Given the description of an element on the screen output the (x, y) to click on. 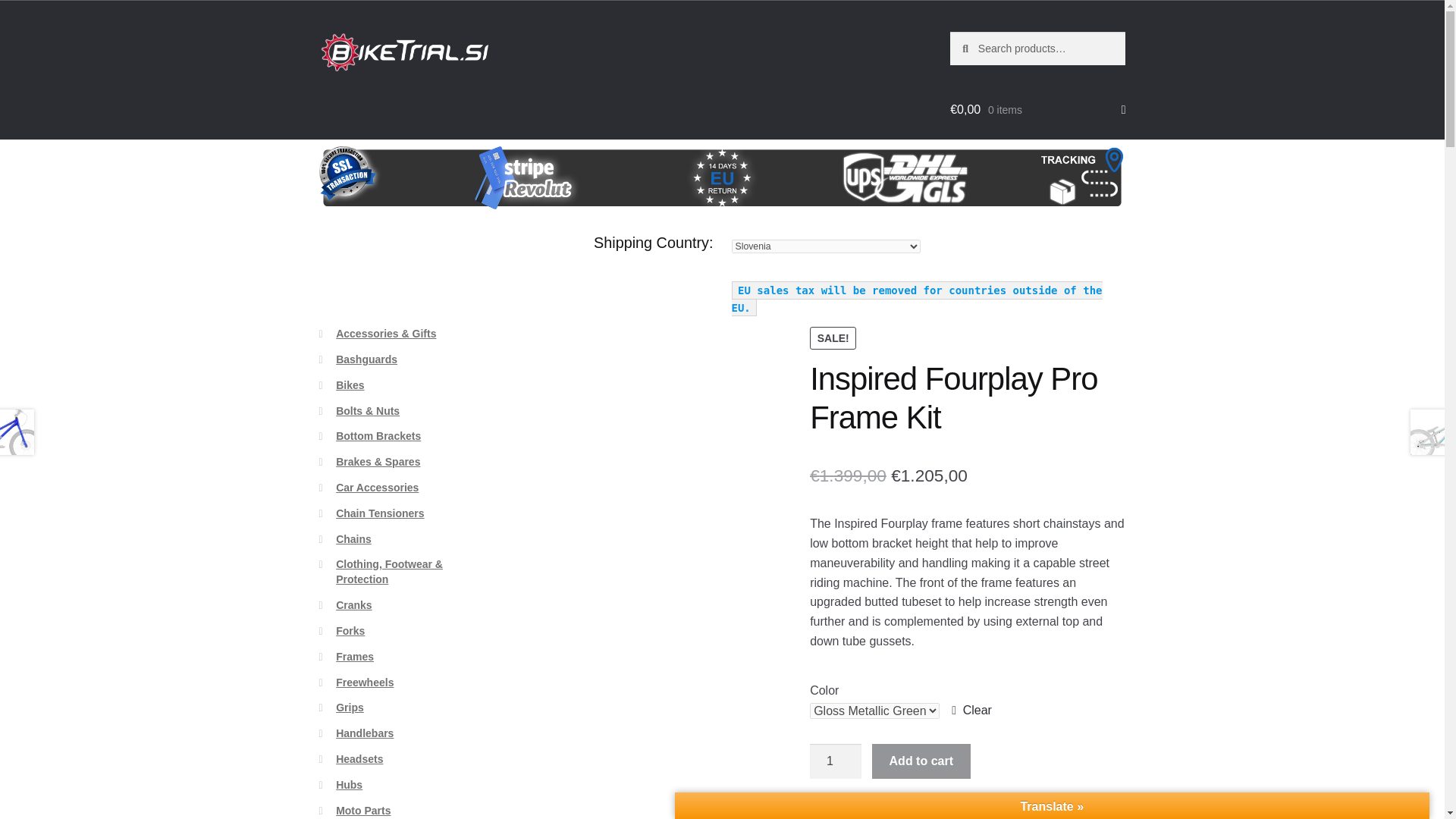
Add to cart (921, 760)
My account (627, 107)
About us (377, 107)
Checkout (457, 107)
Privacy Policy (700, 100)
Delivery (572, 107)
Contact Us (516, 107)
Contact Us (516, 100)
Checkout (457, 100)
View your shopping cart (1037, 109)
